Given the description of an element on the screen output the (x, y) to click on. 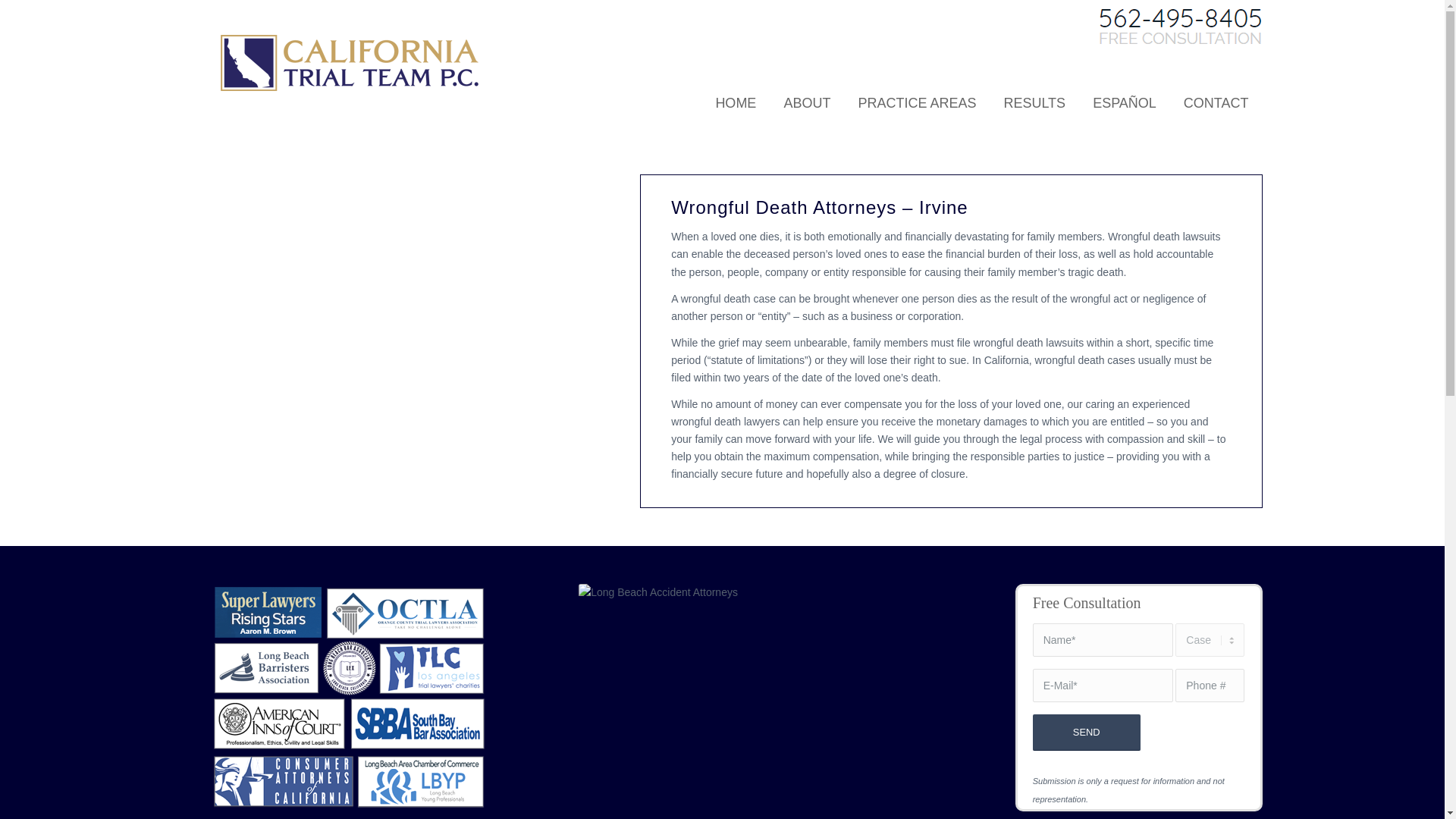
RESULTS (1034, 91)
HOME (735, 91)
Long Beach Accident Attorneys (740, 697)
SEND (1086, 732)
ABOUT (807, 91)
f-top-long-beach-lawyer (349, 697)
PRACTICE AREAS (917, 91)
CONTACT (1216, 91)
SEND (1086, 732)
